Given the description of an element on the screen output the (x, y) to click on. 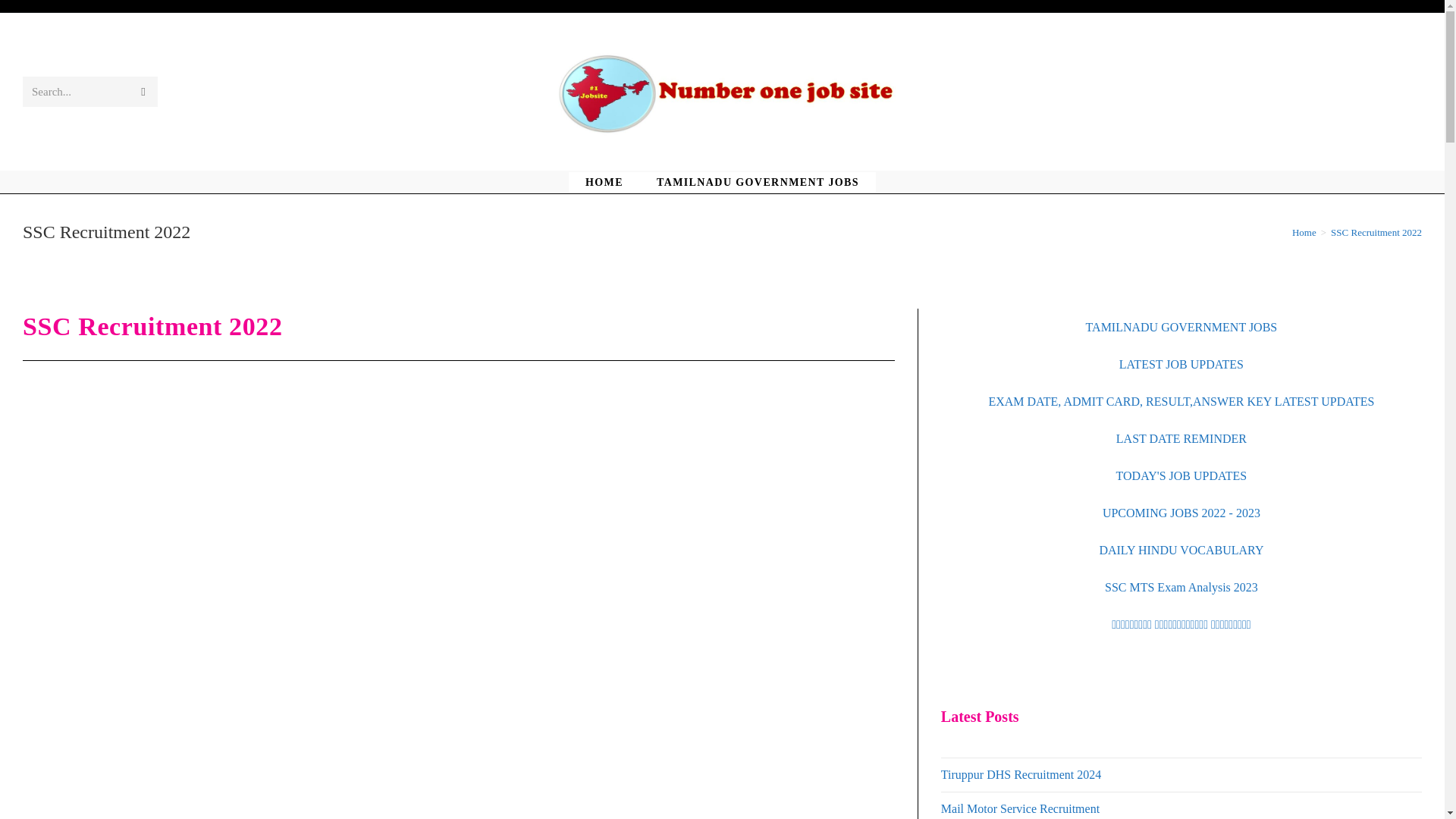
Submit search (143, 91)
HOME (604, 181)
Home (1304, 232)
SSC Recruitment 2022 (1376, 232)
TAMILNADU GOVERNMENT JOBS (758, 181)
